Given the description of an element on the screen output the (x, y) to click on. 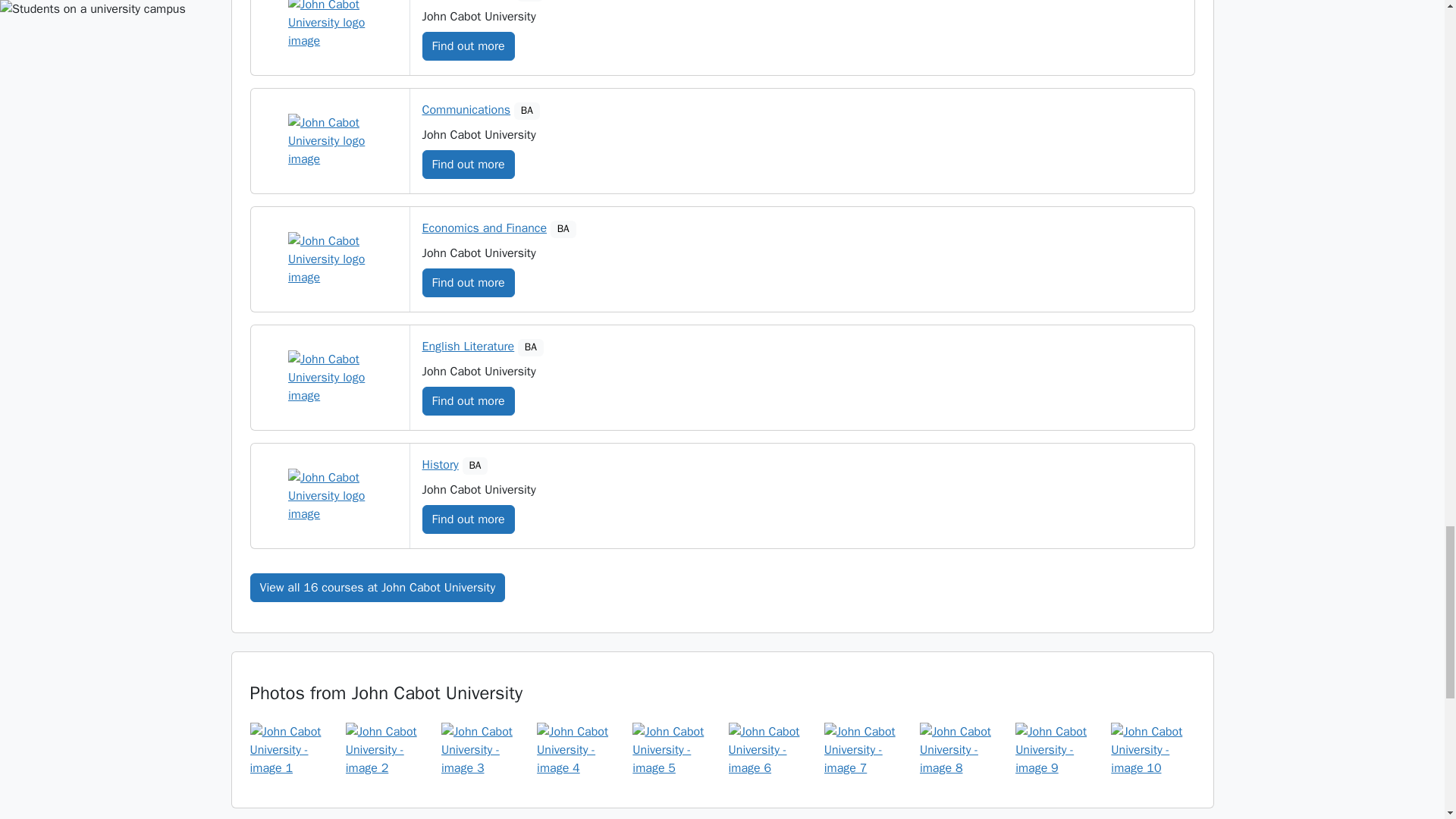
John Cabot University (329, 495)
John Cabot University (329, 377)
John Cabot University (329, 24)
John Cabot University (329, 258)
John Cabot University (329, 140)
